Given the description of an element on the screen output the (x, y) to click on. 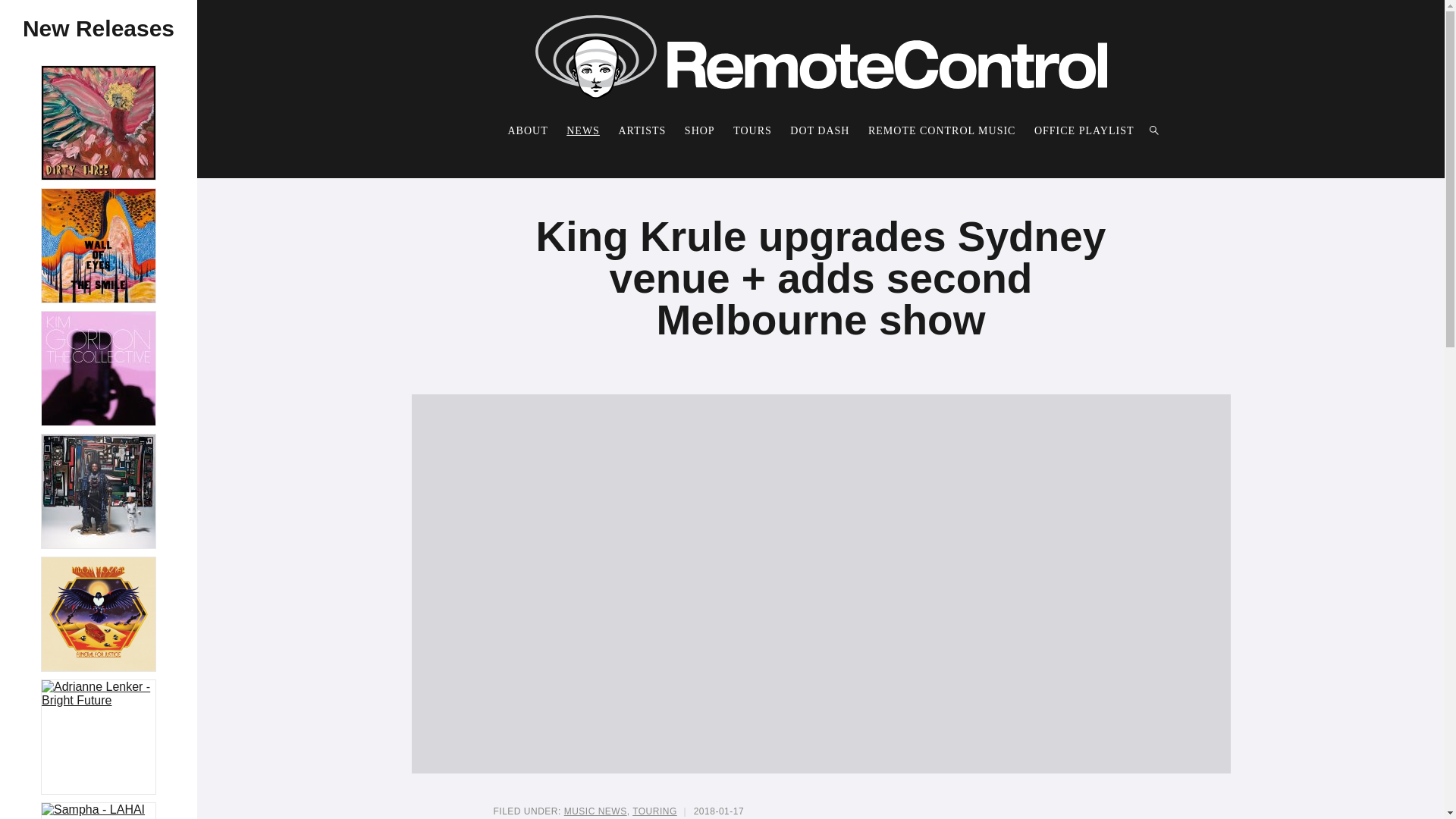
SHOP (699, 130)
ARTISTS (641, 130)
The Smile - Wall Of Eyes (98, 245)
Mdou Moctar - Funeral For Justice (98, 613)
Adrianne Lenker - Bright Future (98, 693)
DOT DASH (819, 130)
SHARE THIS (1030, 811)
TOURS (752, 130)
Kim Gordon - The Collective (98, 368)
Kamasi Washington - Fearless Movement (98, 490)
